Given the description of an element on the screen output the (x, y) to click on. 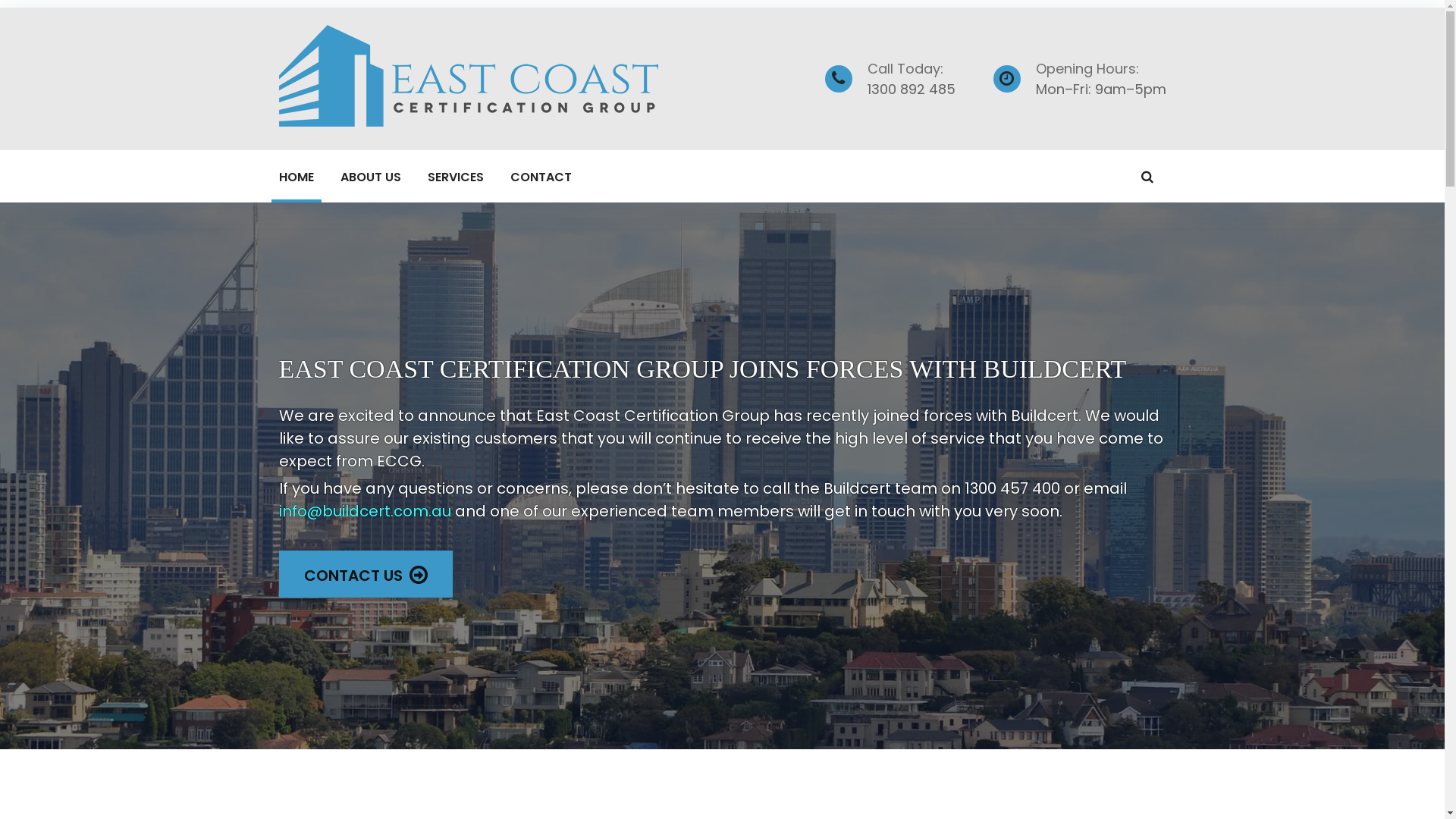
HOME Element type: text (296, 176)
CONTACT Element type: text (540, 176)
CONTACT US Element type: text (365, 573)
ABOUT US Element type: text (369, 176)
SERVICES Element type: text (455, 176)
info@buildcert.com.au Element type: text (365, 510)
